Given the description of an element on the screen output the (x, y) to click on. 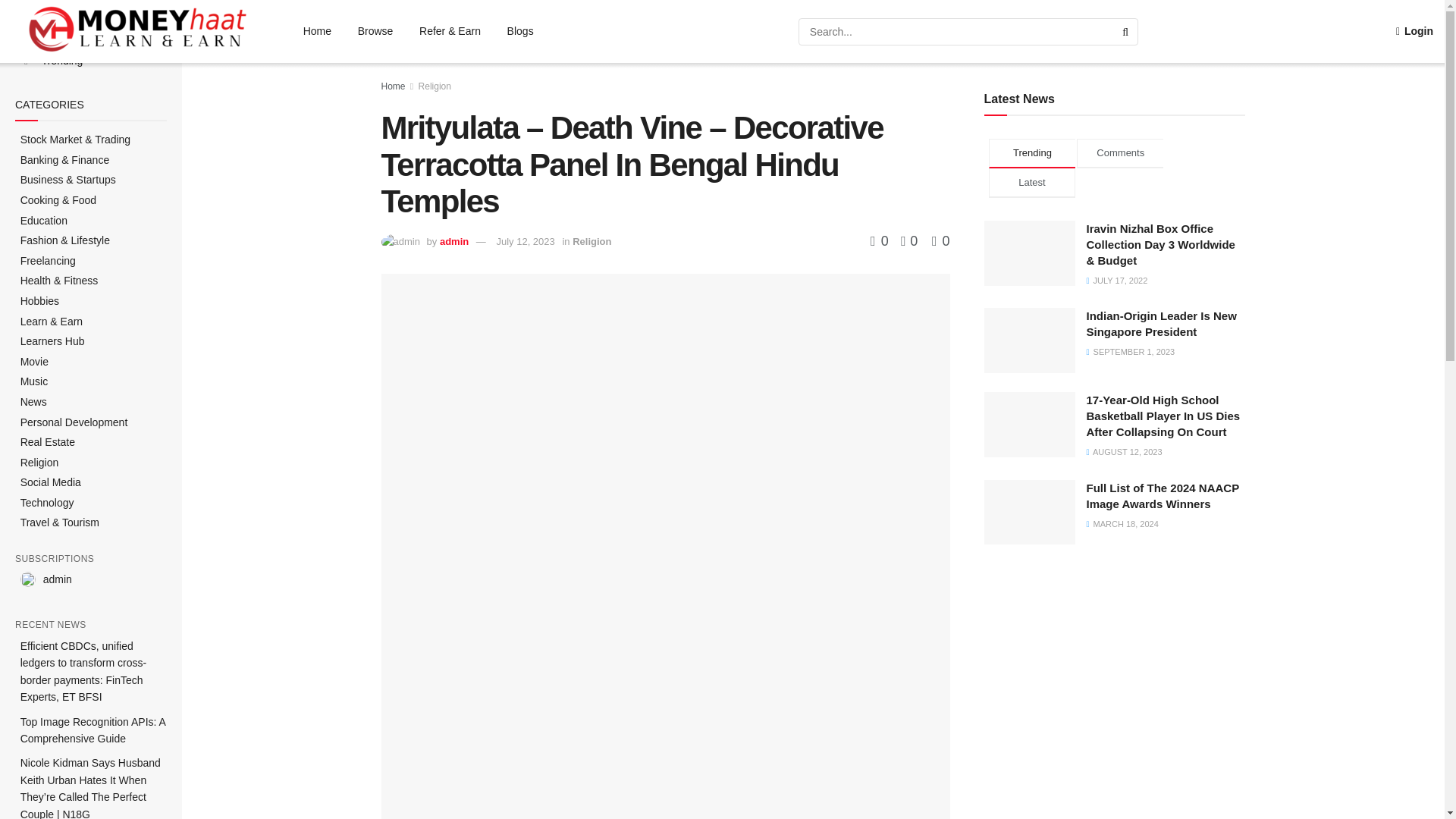
Freelancing (47, 261)
Learners Hub (52, 341)
Education (43, 221)
News (33, 402)
Hobbies (39, 301)
Trending (51, 61)
Home (44, 40)
Movie (34, 362)
Music (34, 381)
